Given the description of an element on the screen output the (x, y) to click on. 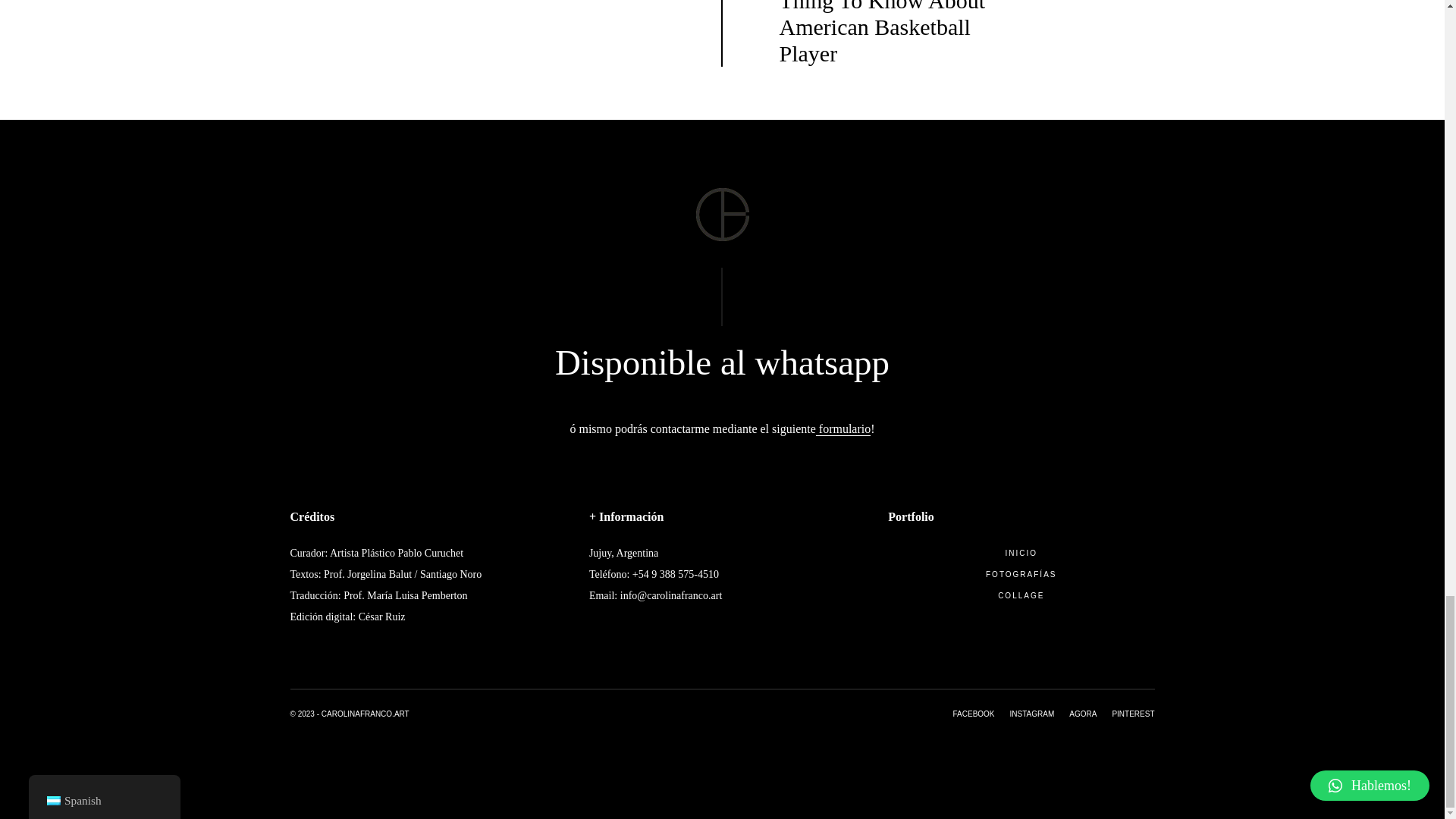
INSTAGRAM (1024, 714)
COLLAGE (1020, 595)
FACEBOOK (973, 714)
AGORA (1075, 714)
PINTEREST (1125, 714)
INICIO (1020, 553)
formulario (842, 428)
